Given the description of an element on the screen output the (x, y) to click on. 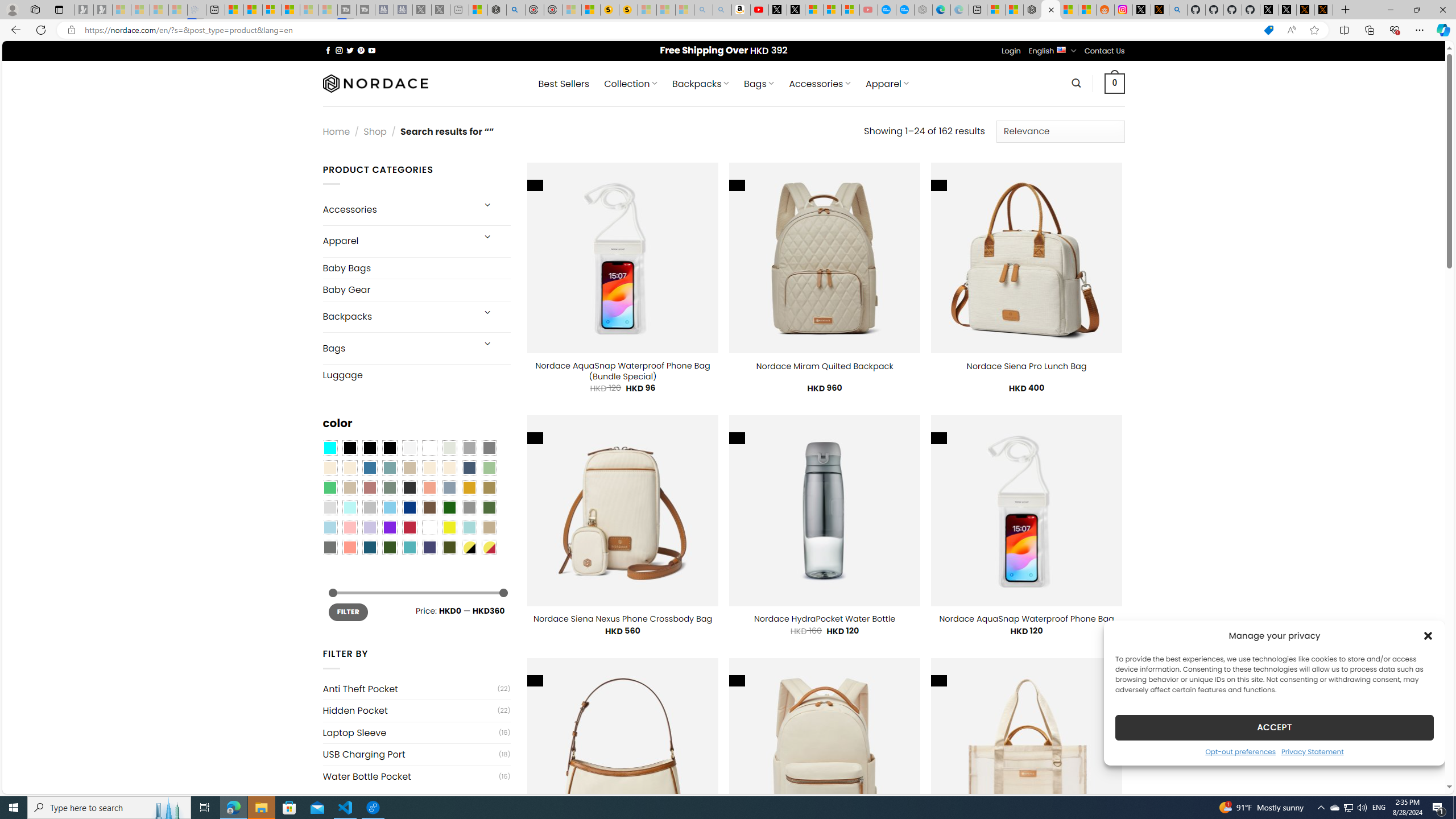
English (1061, 49)
Copilot (Ctrl+Shift+.) (1442, 29)
Nordace AquaSnap Waterproof Phone Bag (Bundle Special) (621, 371)
Black-Brown (389, 447)
amazon - Search - Sleeping (702, 9)
Shop (375, 131)
FILTER (347, 611)
Bags (397, 348)
Home (335, 131)
Backpacks (397, 316)
Nordace Siena Nexus Phone Crossbody Bag (621, 618)
Nordace - You searched for (1050, 9)
